Given the description of an element on the screen output the (x, y) to click on. 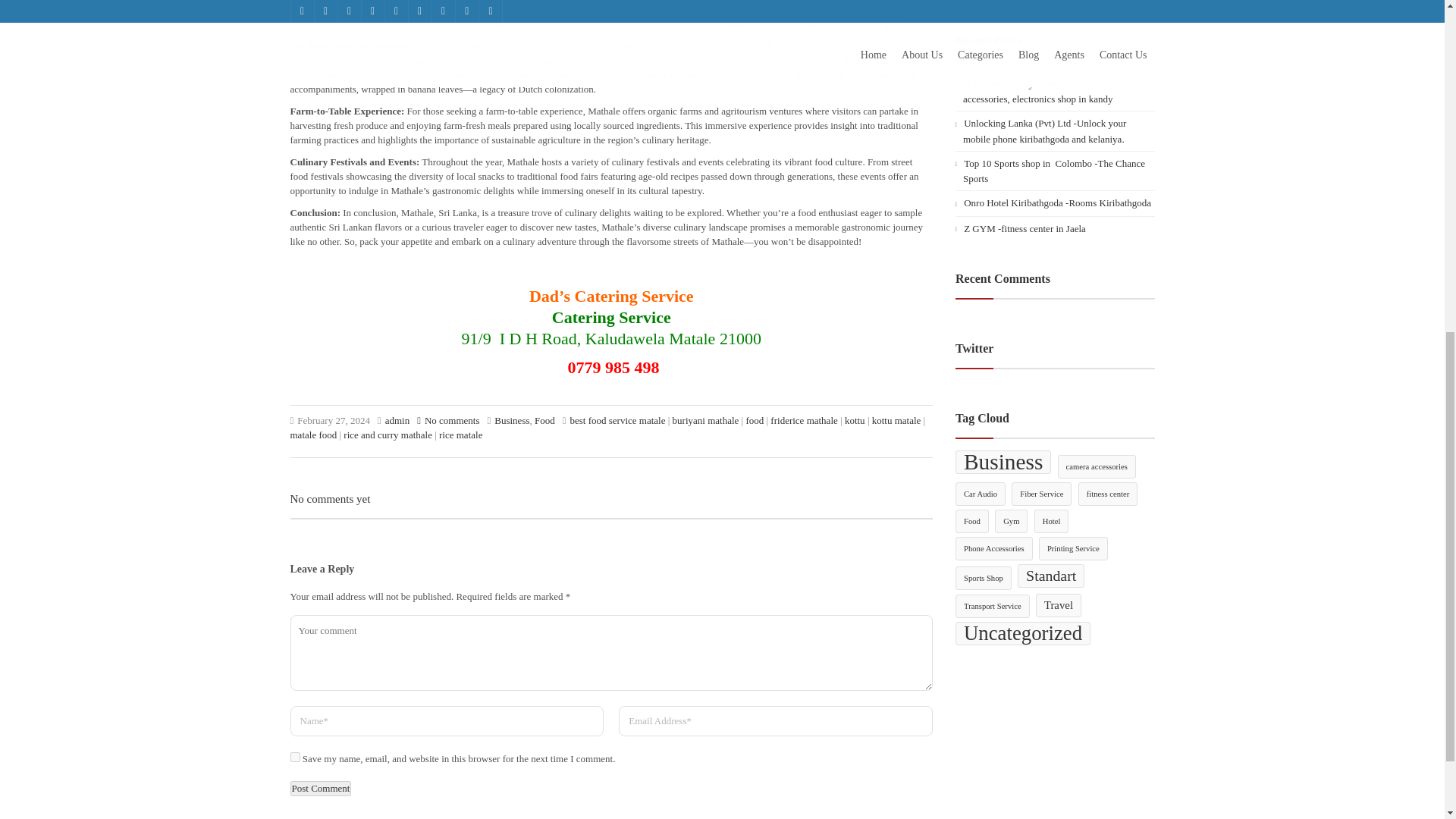
Post Comment (319, 788)
Posts by admin (397, 419)
yes (294, 757)
